Given the description of an element on the screen output the (x, y) to click on. 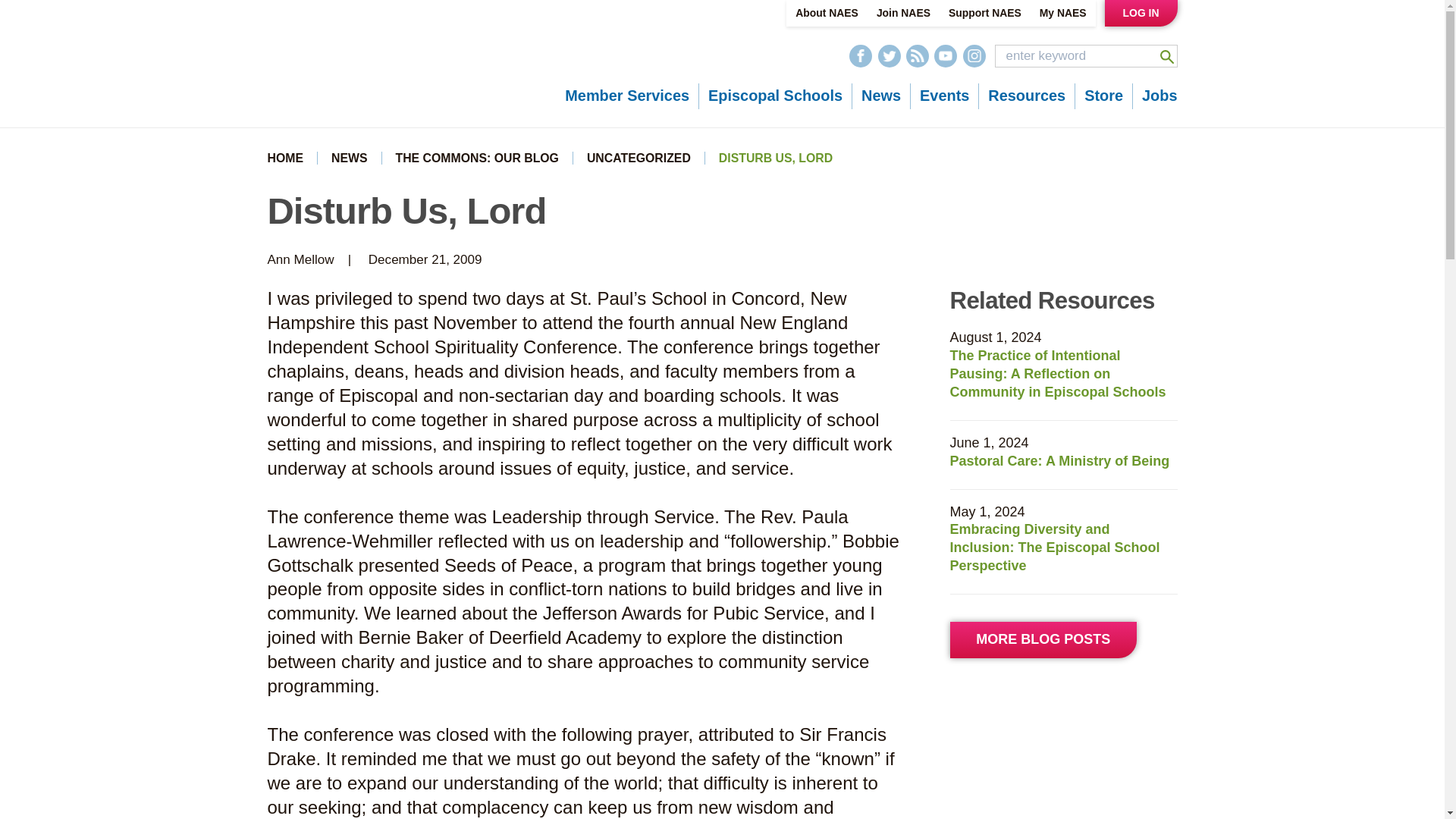
Youtube (945, 56)
My NAES (1063, 13)
About NAES (826, 13)
Facebook (860, 56)
Rss feed (916, 56)
Member Services (626, 95)
Go to the Uncategorized category archives. (638, 157)
Go to News. (349, 157)
Join NAES (903, 13)
Instagram (973, 56)
